Given the description of an element on the screen output the (x, y) to click on. 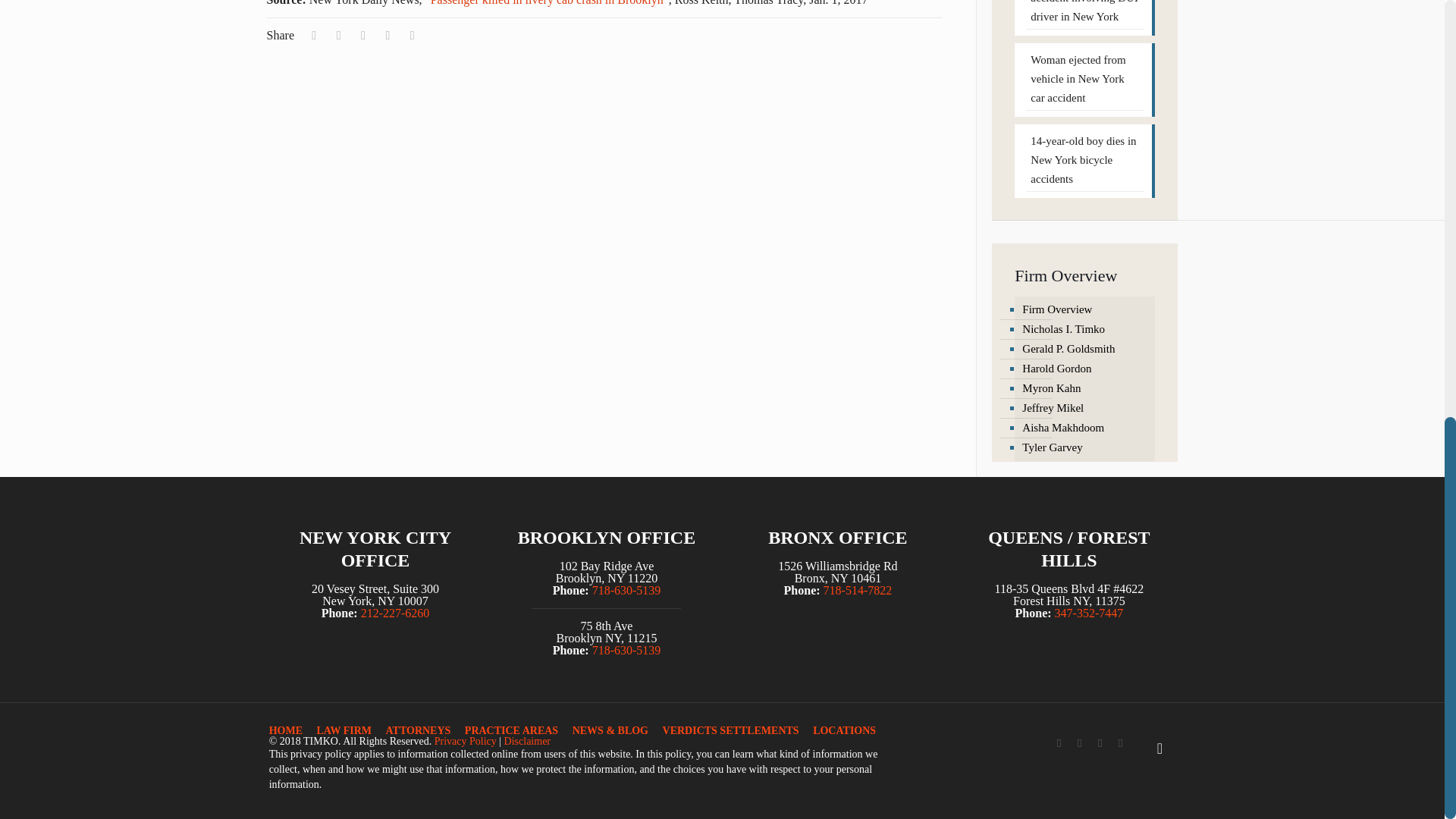
YouTube (1100, 743)
Facebook (1059, 743)
Instagram (1120, 743)
Twitter (1079, 743)
